Given the description of an element on the screen output the (x, y) to click on. 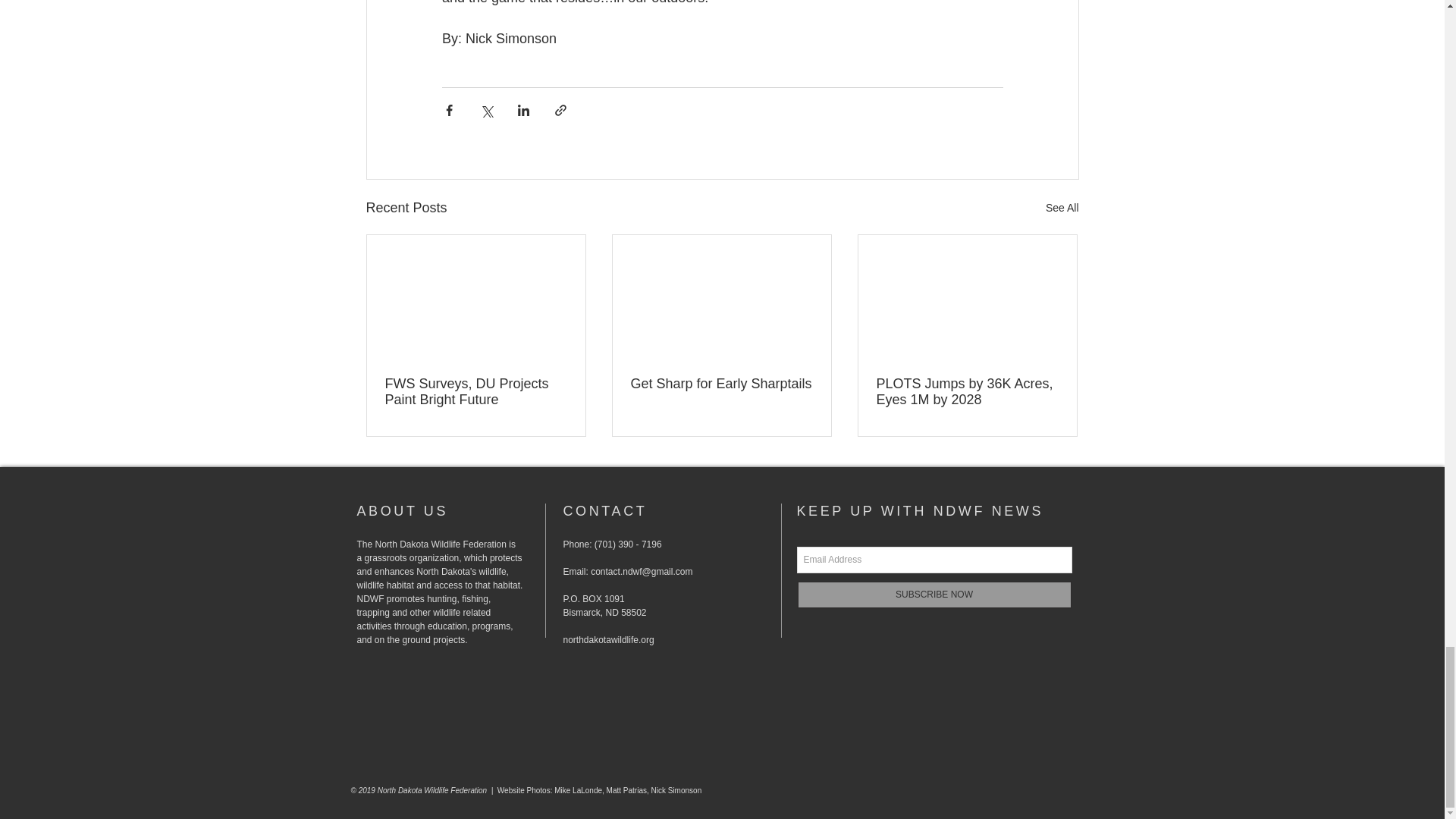
See All (1061, 208)
PLOTS Jumps by 36K Acres, Eyes 1M by 2028 (967, 391)
Get Sharp for Early Sharptails (721, 383)
SUBSCRIBE NOW (933, 594)
FWS Surveys, DU Projects Paint Bright Future (476, 391)
